Given the description of an element on the screen output the (x, y) to click on. 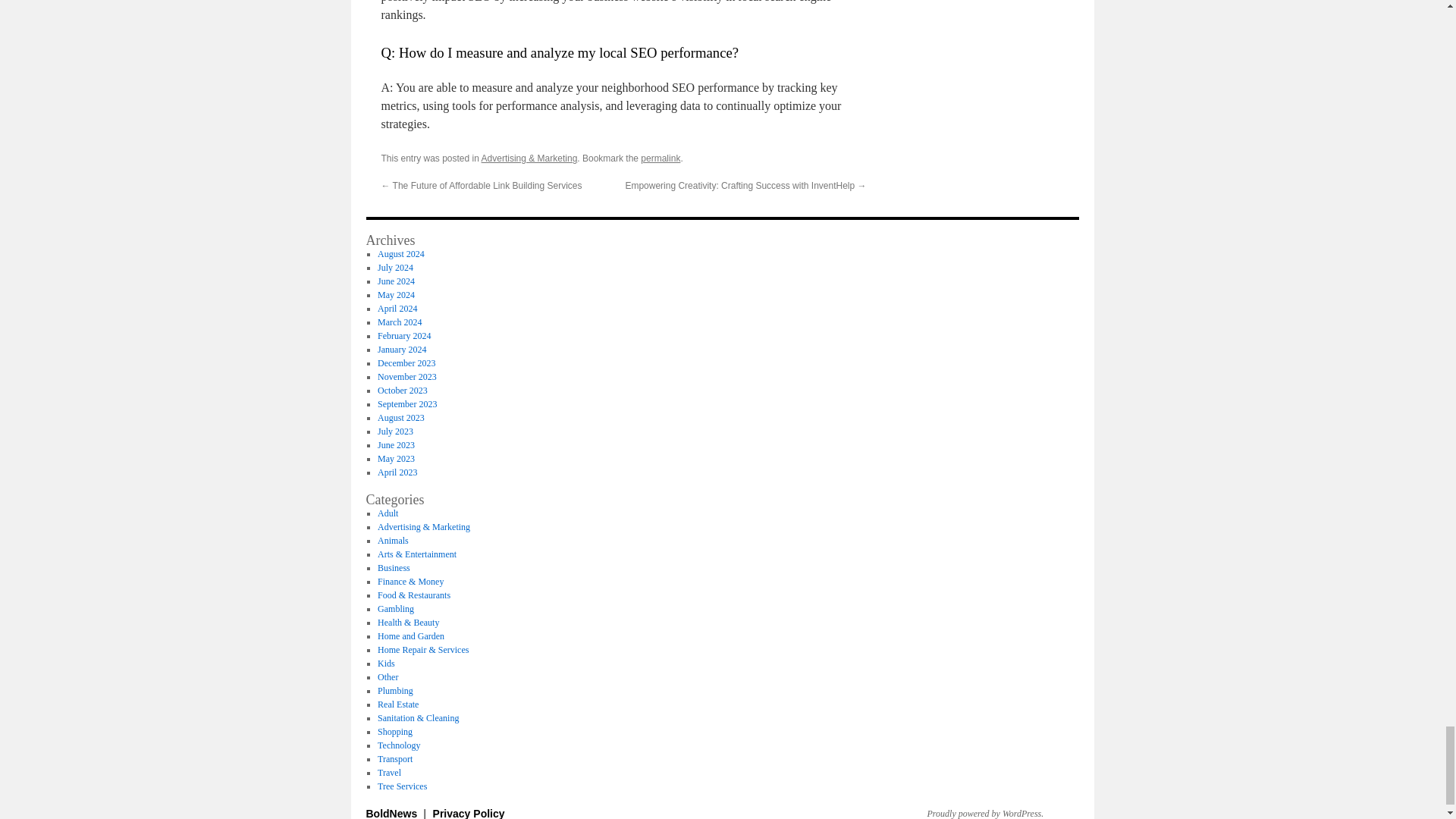
January 2024 (401, 348)
July 2024 (395, 267)
September 2023 (406, 403)
November 2023 (406, 376)
May 2023 (395, 458)
June 2023 (395, 444)
permalink (659, 158)
Adult (387, 512)
August 2023 (401, 417)
May 2024 (395, 294)
